Given the description of an element on the screen output the (x, y) to click on. 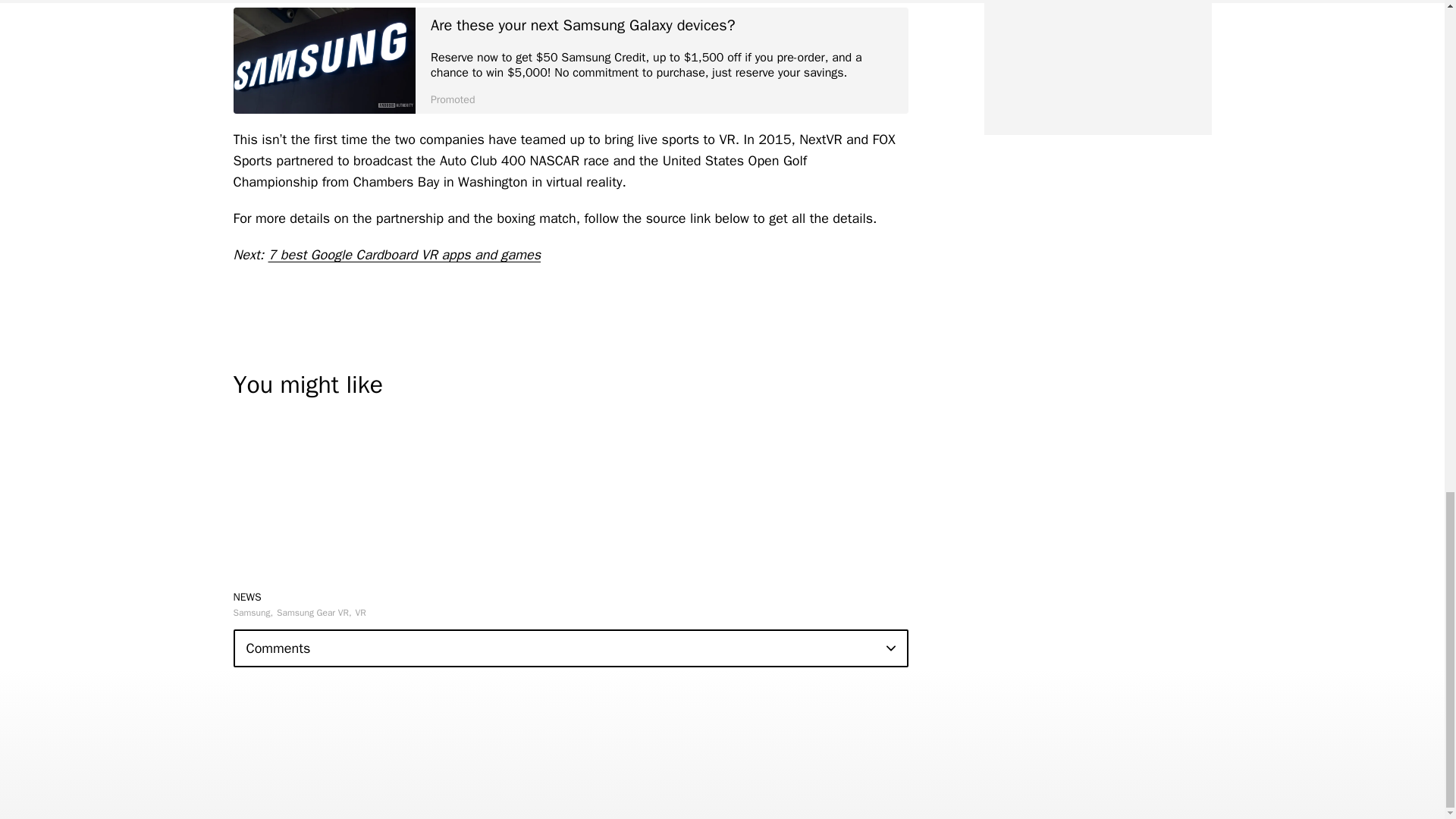
Samsung Gear VR (314, 612)
NEWS (247, 596)
Samsung (252, 612)
Comments (570, 648)
7 best Google Cardboard VR apps and games (404, 254)
VR (360, 612)
